Given the description of an element on the screen output the (x, y) to click on. 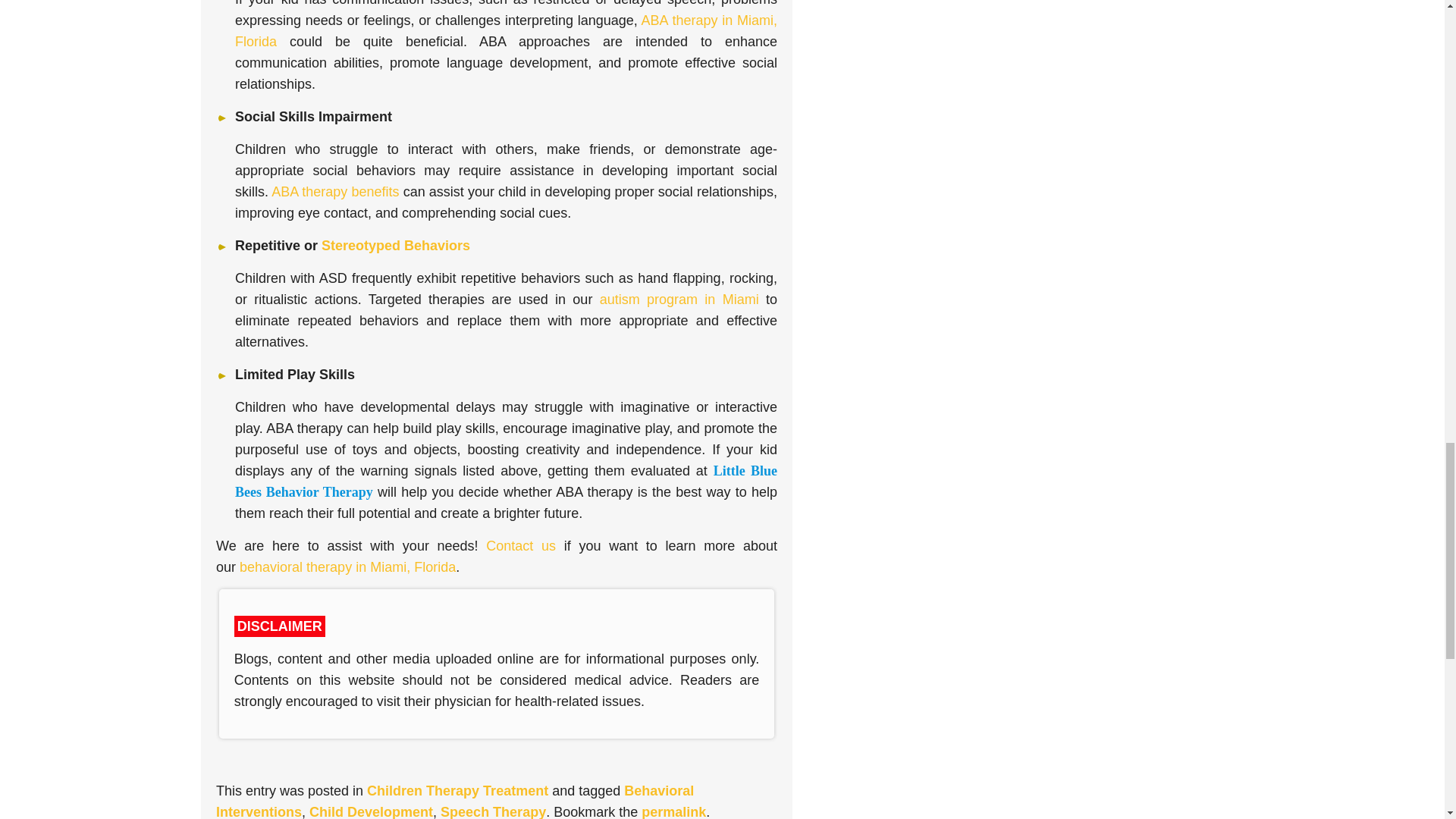
ABA therapy in Miami, Florida (505, 30)
Behavioral Interventions (454, 800)
behavioral therapy in Miami, Florida (347, 566)
Stereotyped Behaviors (395, 245)
autism program in Miami (678, 298)
Child Development (370, 811)
Permalink to Is ABA Therapy Right for Your Child? (674, 811)
Children Therapy Treatment (457, 789)
ABA therapy benefits (334, 191)
Contact us (521, 545)
